Given the description of an element on the screen output the (x, y) to click on. 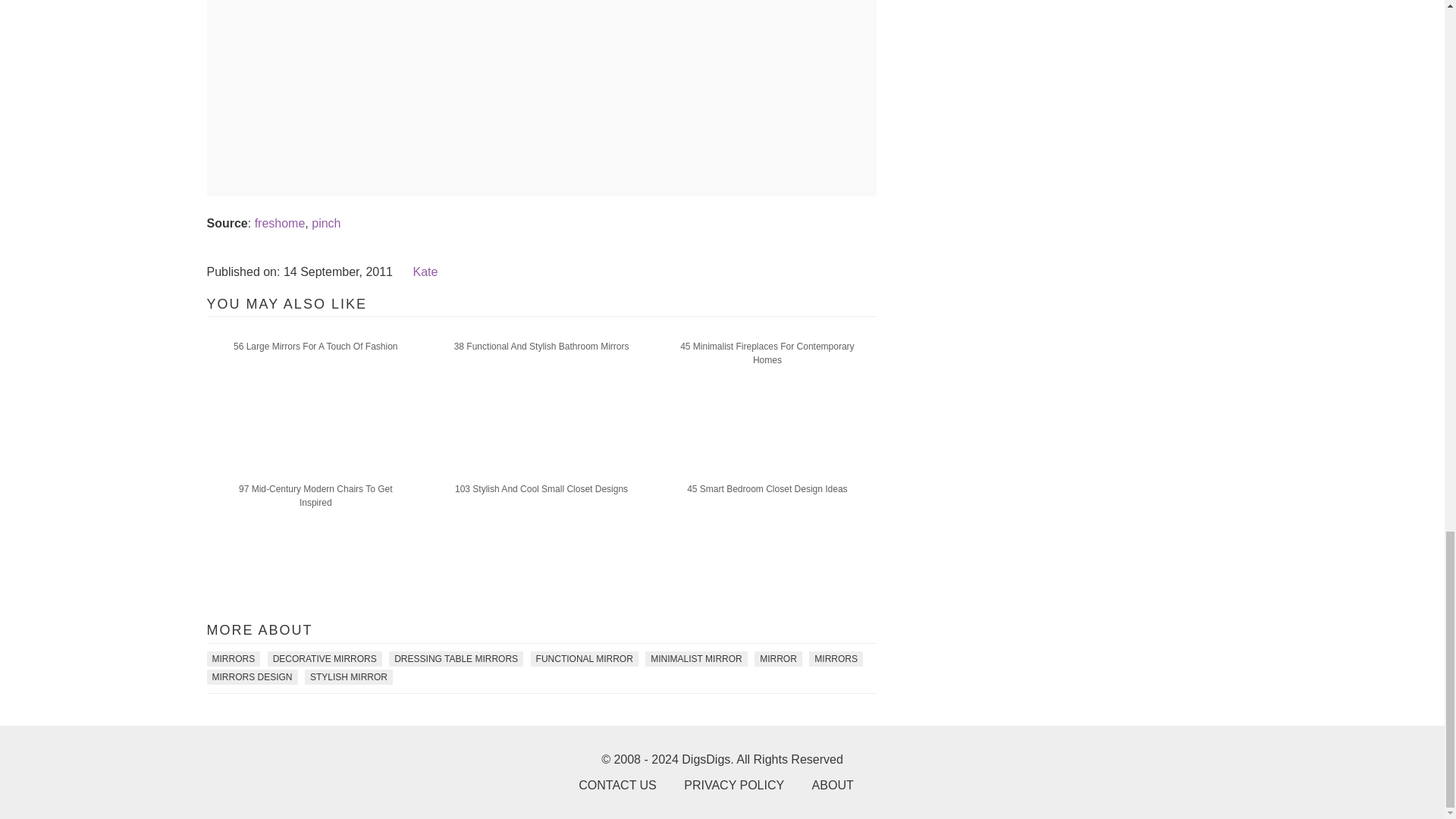
pinch (325, 223)
103 Stylish And Cool Small Closet Designs (542, 488)
97 Mid-Century Modern Chairs To Get Inspired (314, 495)
56 Large Mirrors For A Touch Of Fashion (314, 346)
Kate (425, 271)
45 Minimalist Fireplaces For Contemporary Homes (766, 353)
freshome (279, 223)
Gentle Feminine Mirror With A Drawer (575, 89)
Gentle Feminine Mirror With A Drawer (575, 174)
38 Functional And Stylish Bathroom Mirrors (542, 346)
